Given the description of an element on the screen output the (x, y) to click on. 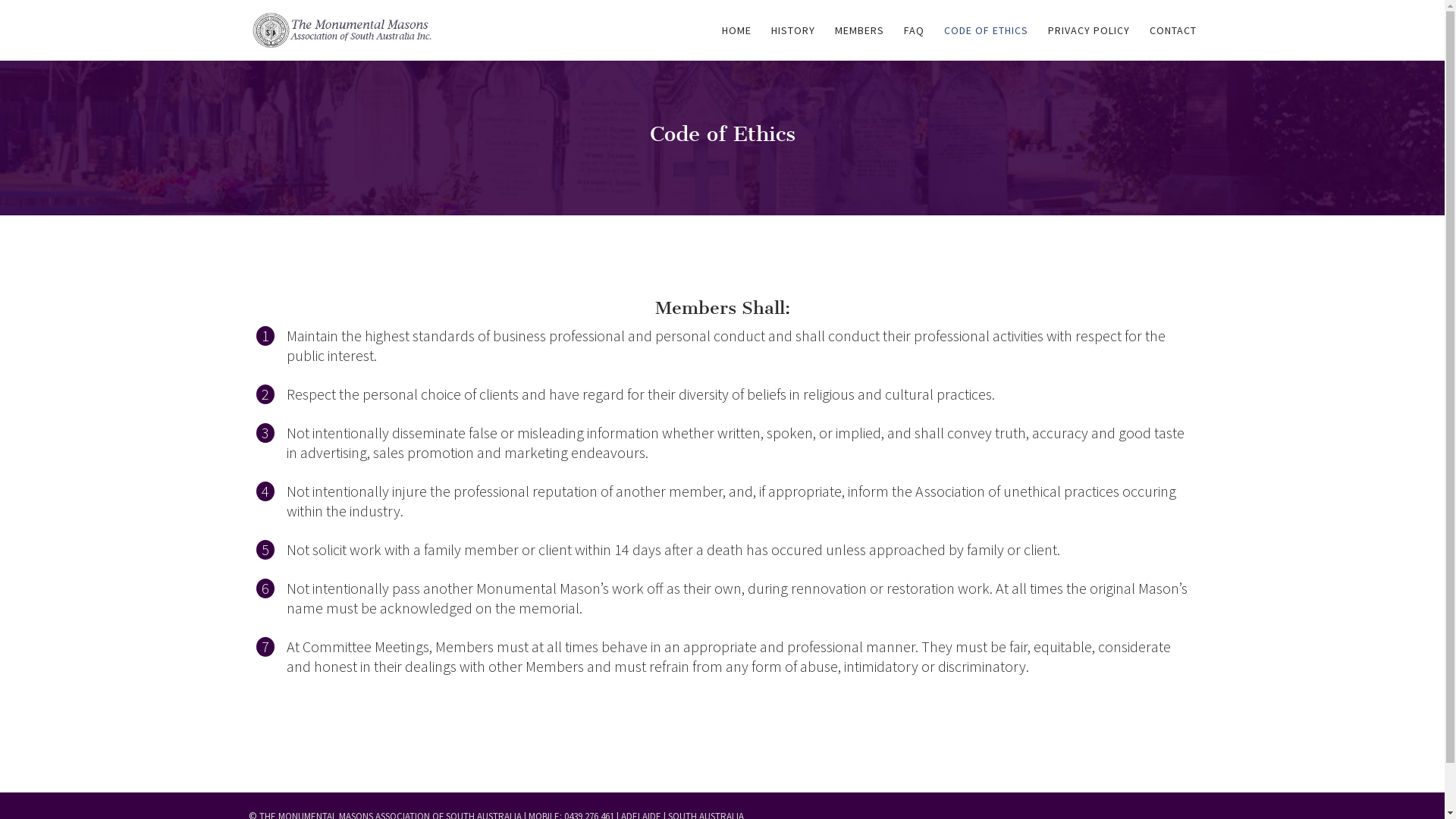
PRIVACY POLICY Element type: text (1088, 42)
CONTACT Element type: text (1172, 42)
HOME Element type: text (736, 42)
FAQ Element type: text (913, 42)
MEMBERS Element type: text (858, 42)
HISTORY Element type: text (792, 42)
CODE OF ETHICS Element type: text (985, 42)
